Given the description of an element on the screen output the (x, y) to click on. 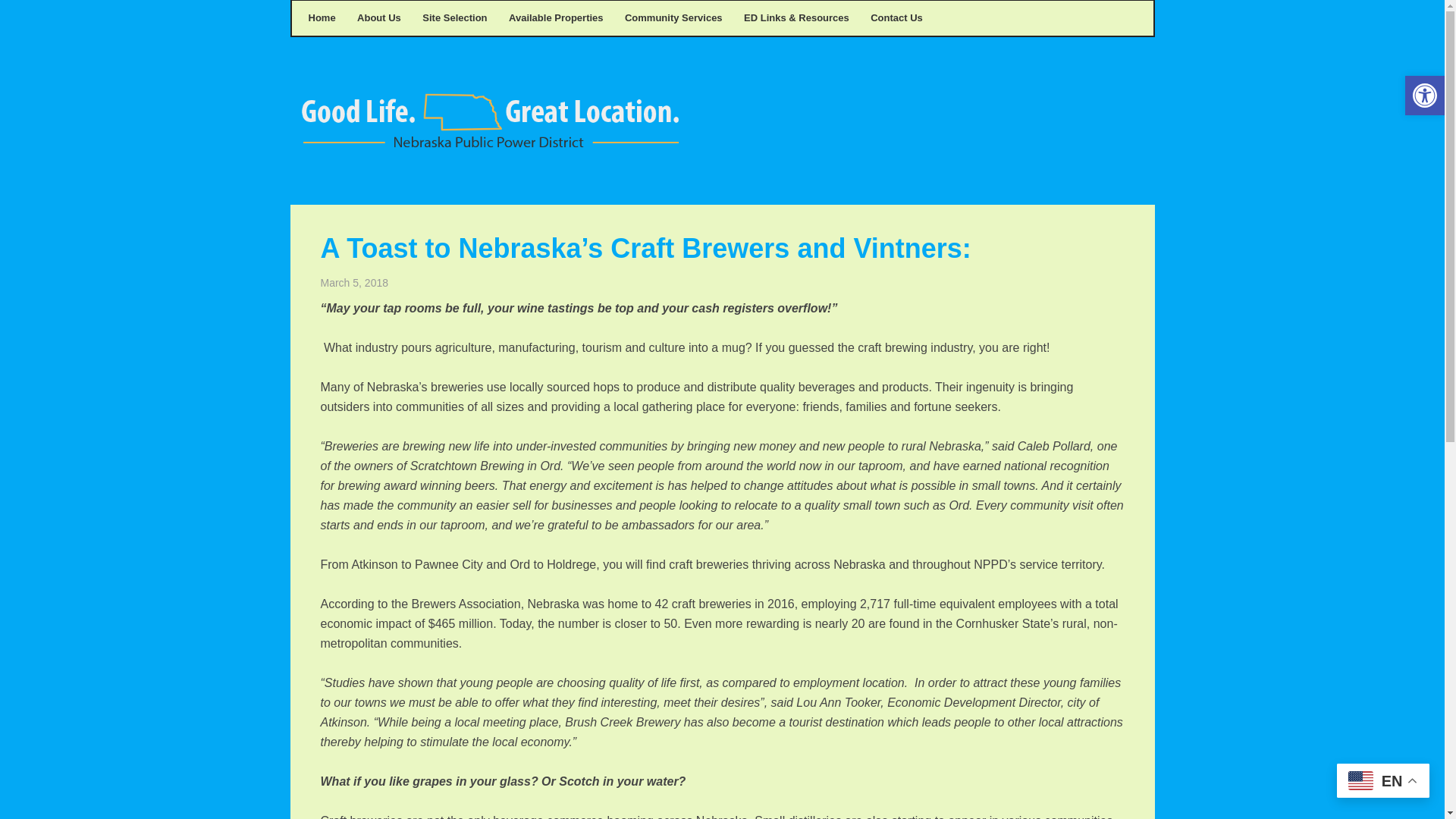
Accessibility Tools (1424, 95)
Home (320, 17)
About Us (378, 17)
